Given the description of an element on the screen output the (x, y) to click on. 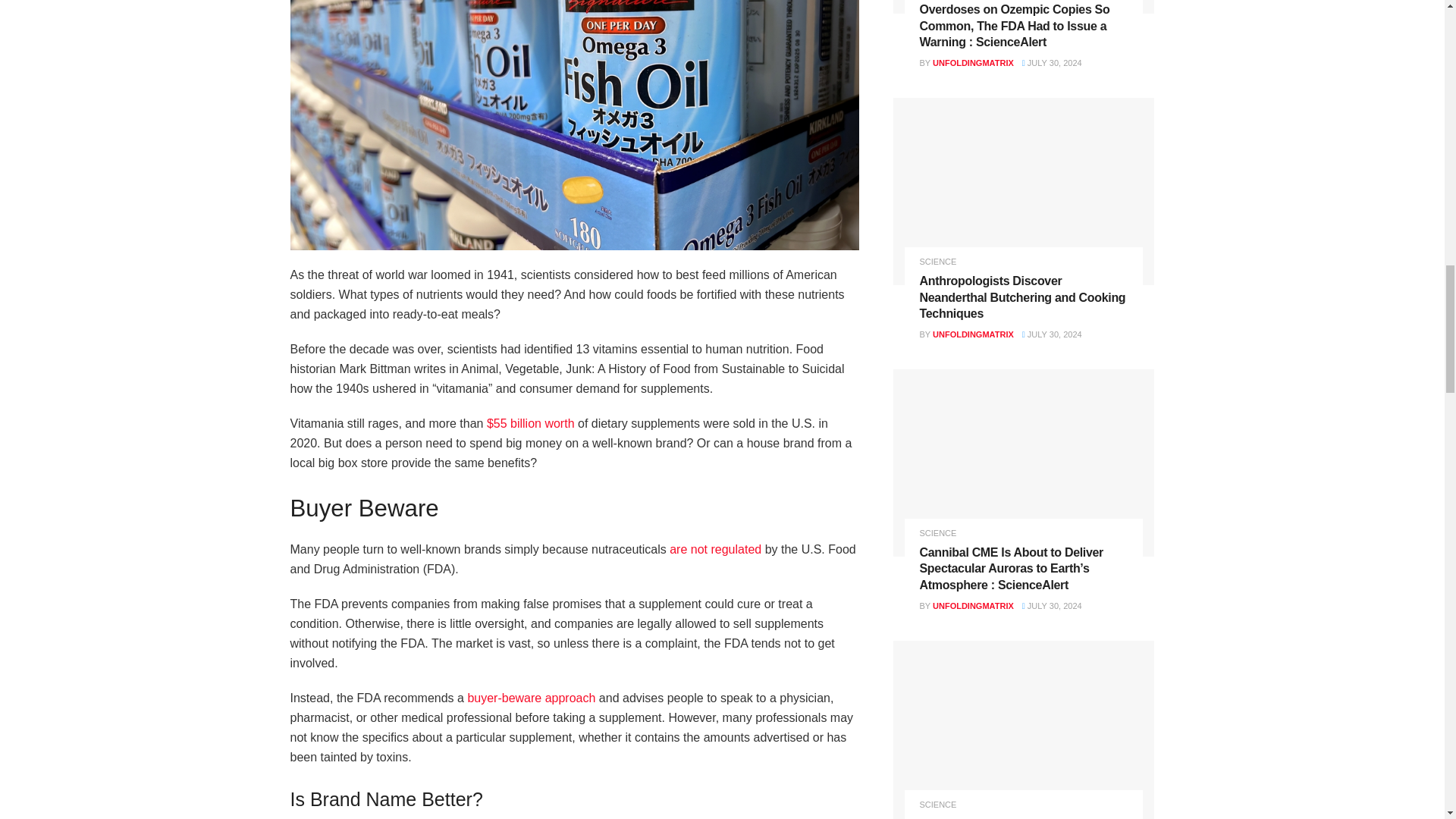
buyer-beware approach (531, 697)
are not regulated (713, 549)
